Given the description of an element on the screen output the (x, y) to click on. 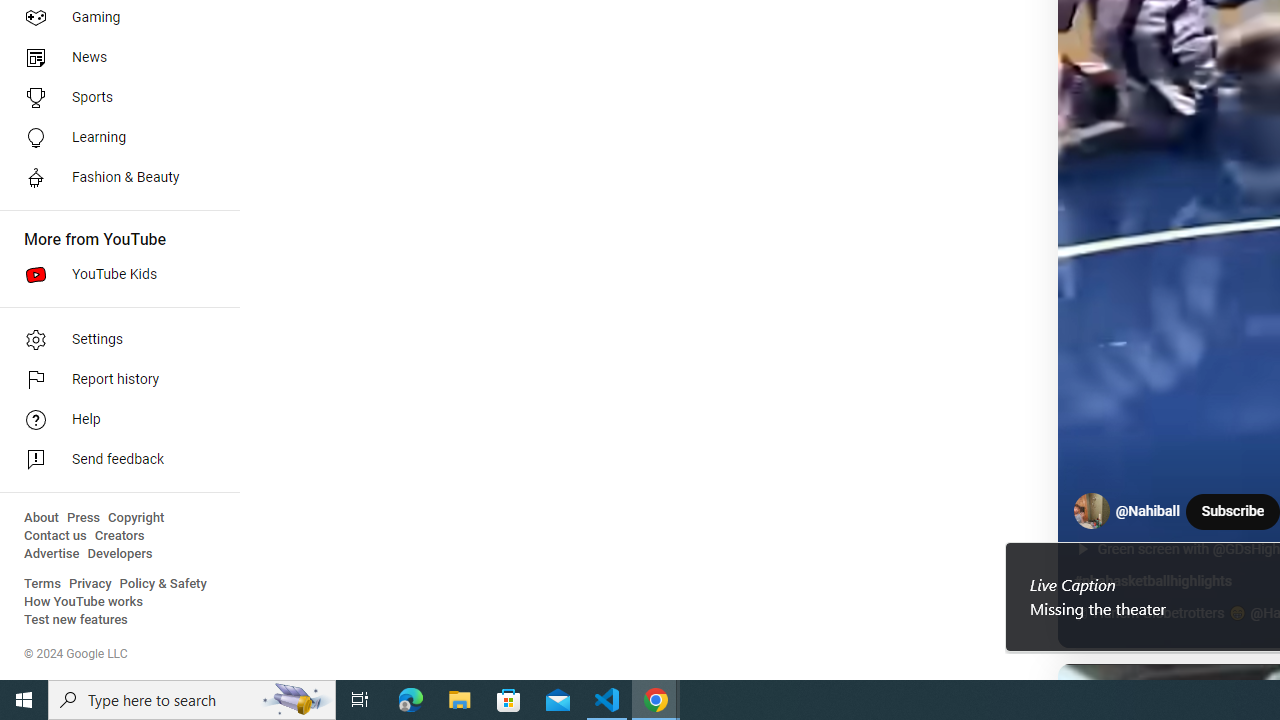
Test new features (76, 620)
Send feedback (113, 459)
Creators (118, 536)
Terms (42, 584)
@Nahiball (1147, 511)
Sports (113, 97)
Settings (113, 339)
Developers (120, 554)
Policy & Safety (163, 584)
#nbabasketballhighlights (1151, 581)
Learning (113, 137)
Press (83, 518)
Privacy (89, 584)
music icon (1081, 614)
